Given the description of an element on the screen output the (x, y) to click on. 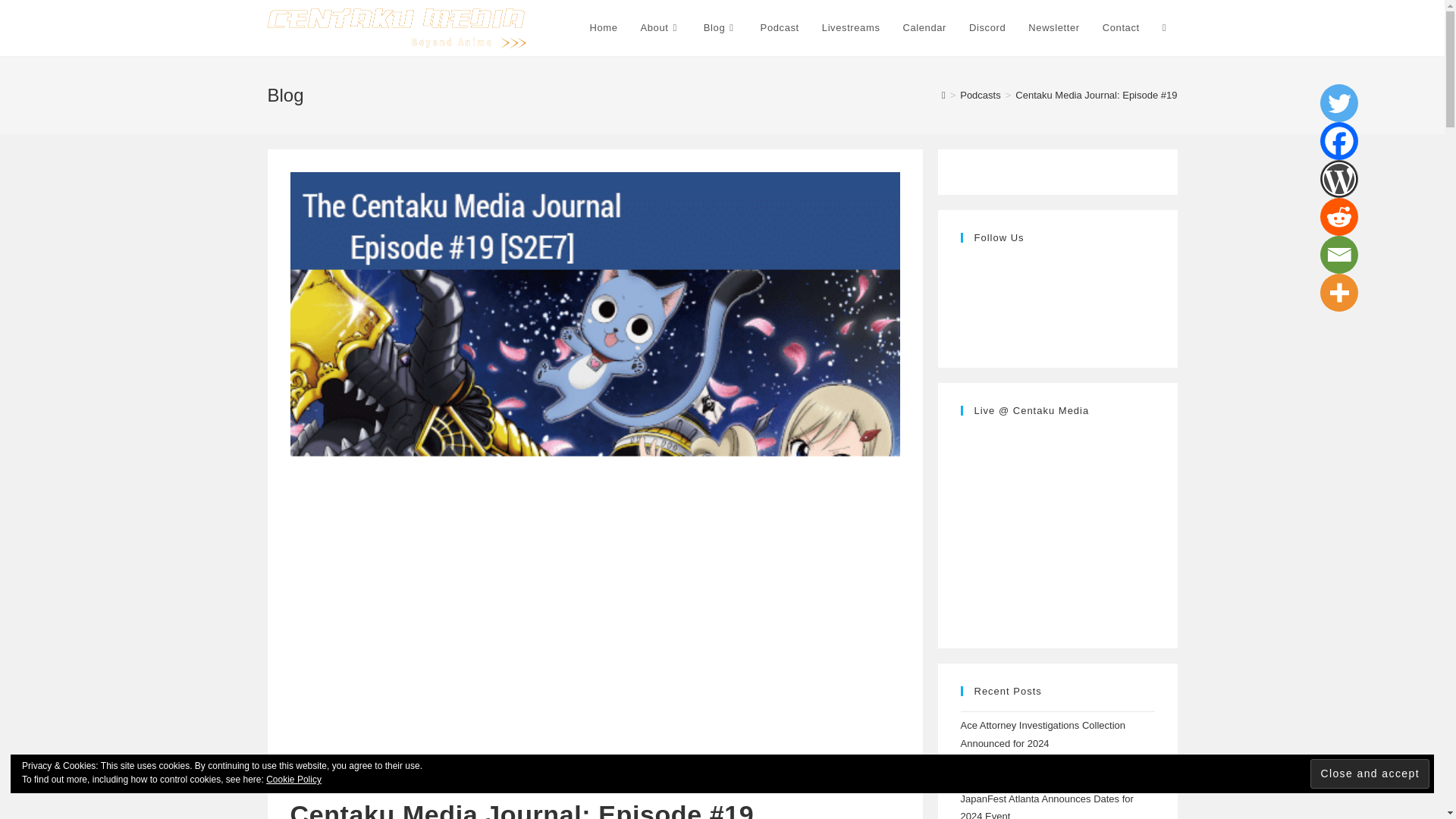
Calendar (924, 28)
Contact (1120, 28)
Close and accept (1369, 773)
Twitter (1339, 103)
Newsletter (1053, 28)
Read on the history of Centaku Media (659, 28)
Email (1339, 254)
Livestreams (850, 28)
Watch our Twitch livestreams from this page! (850, 28)
Podcast (779, 28)
Facebook (1339, 140)
More (1339, 292)
WordPress (1339, 178)
Home (603, 28)
Reddit (1339, 216)
